Given the description of an element on the screen output the (x, y) to click on. 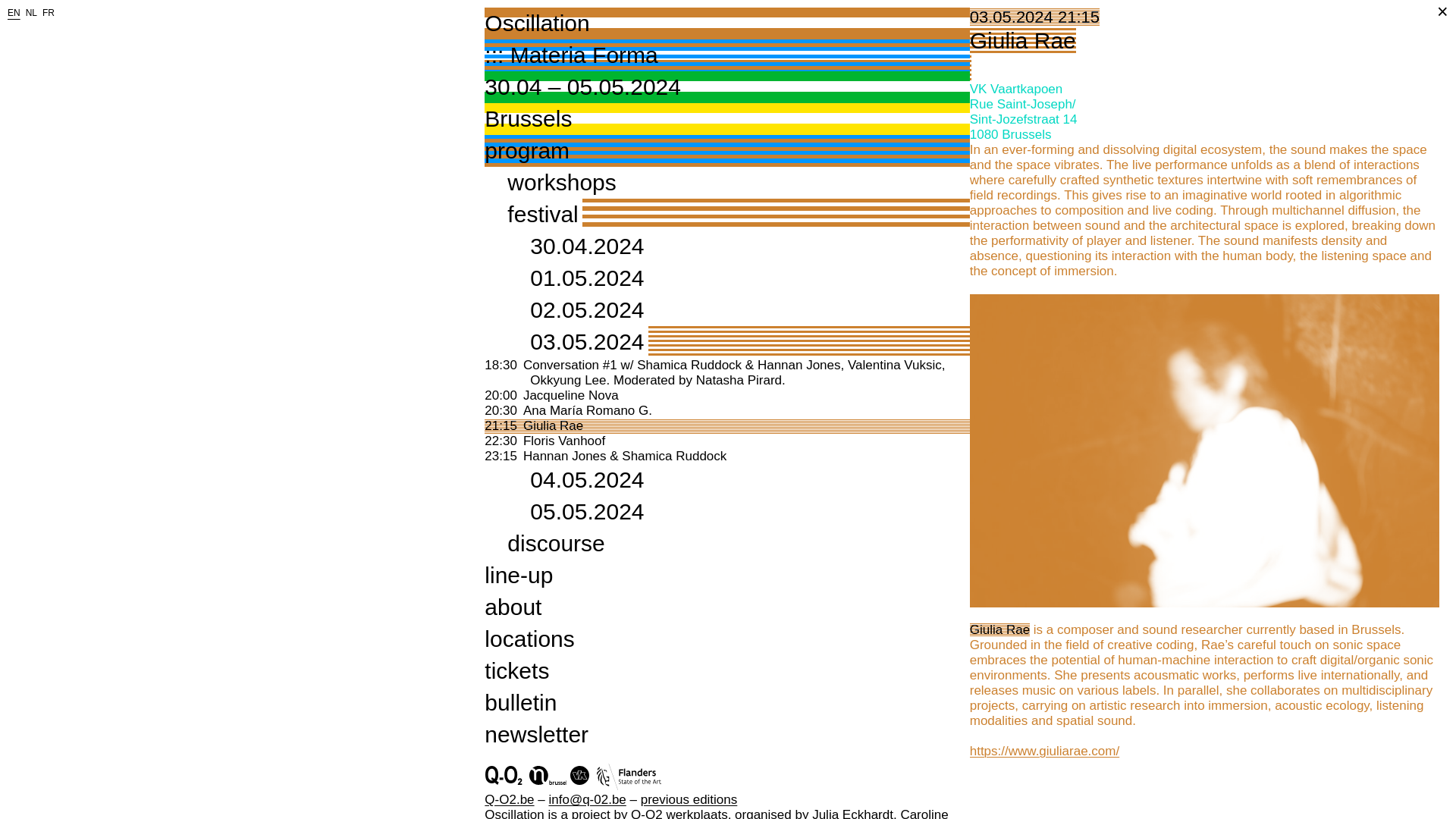
discourse (555, 543)
Floris Vanhoof (563, 440)
EN (726, 39)
FR (13, 12)
Giulia Rae (48, 12)
NL (552, 425)
Jacqueline Nova (31, 12)
